Given the description of an element on the screen output the (x, y) to click on. 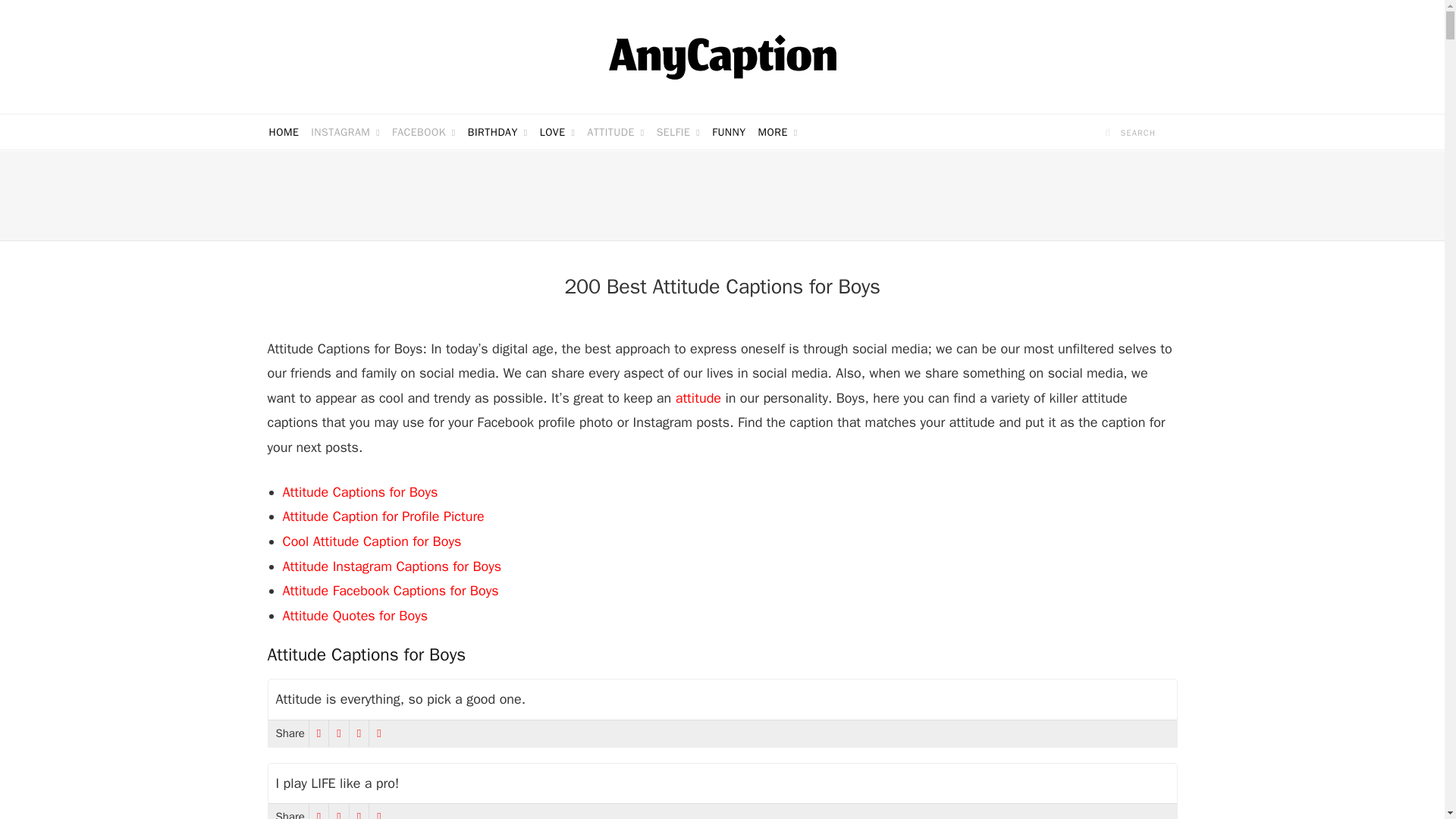
Advertisement (721, 195)
MORE (777, 132)
BIRTHDAY (497, 132)
INSTAGRAM (344, 132)
HOME (283, 132)
FACEBOOK (423, 132)
LOVE (557, 132)
FUNNY (728, 132)
Any Caption (721, 56)
SELFIE (678, 132)
ATTITUDE (614, 132)
